Given the description of an element on the screen output the (x, y) to click on. 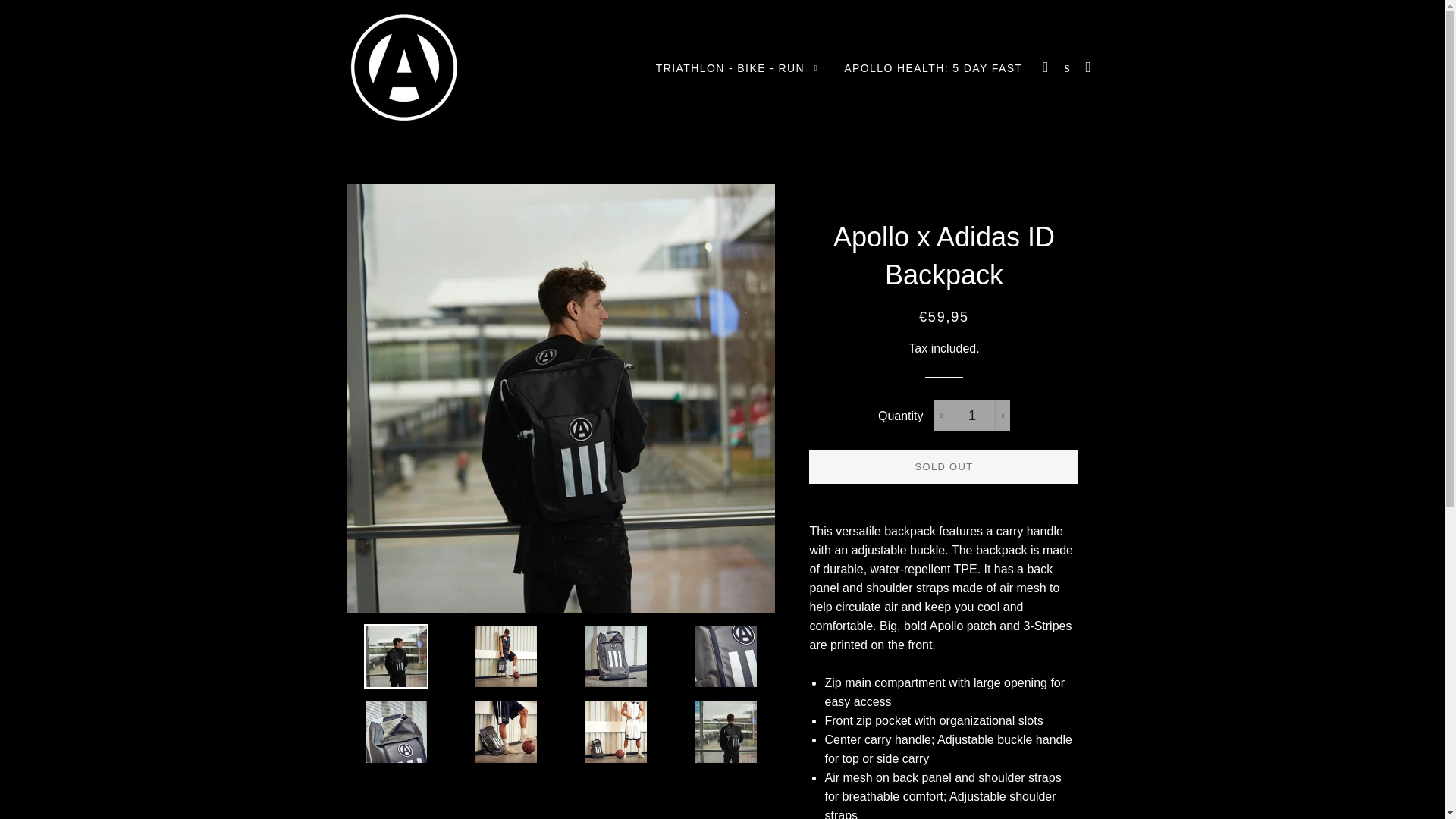
TRIATHLON - BIKE - RUN (737, 68)
APOLLO HEALTH: 5 DAY FAST (932, 68)
1 (972, 415)
